Given the description of an element on the screen output the (x, y) to click on. 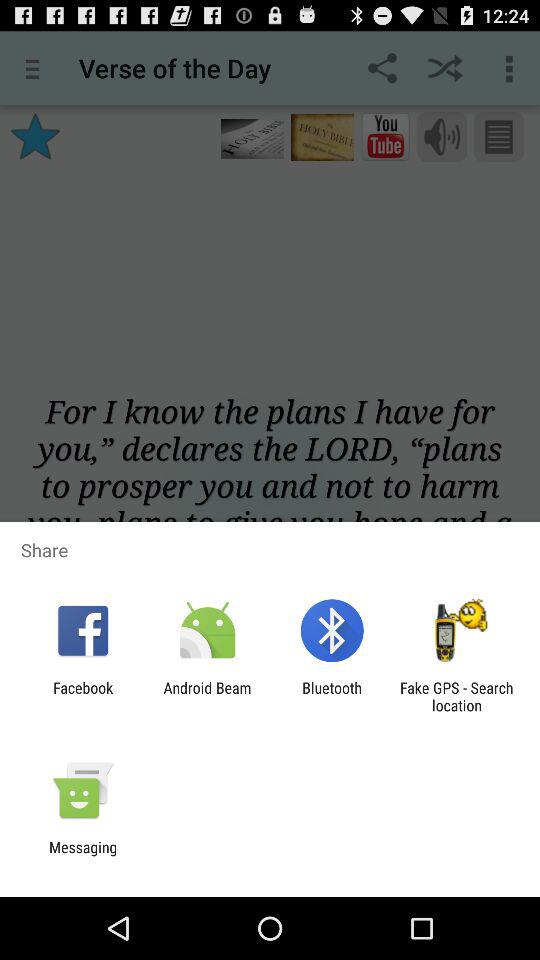
open app next to android beam (83, 696)
